Given the description of an element on the screen output the (x, y) to click on. 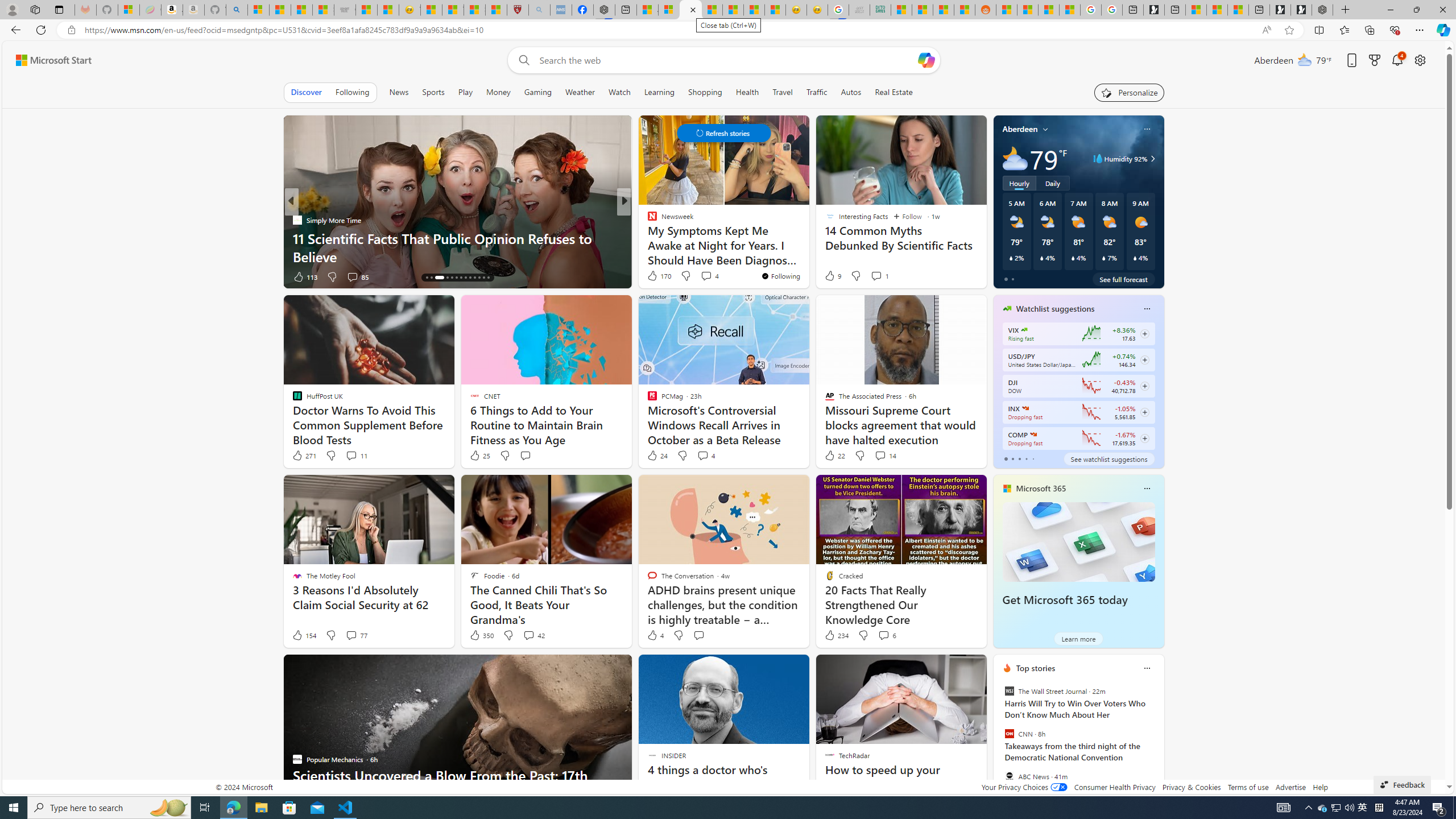
Watch (619, 92)
How to clear your browser cache and cookies (807, 256)
Newsweek (647, 219)
14 Common Myths Debunked By Scientific Facts (712, 9)
Your Privacy Choices (1024, 786)
View comments 42 Comment (528, 635)
tab-0 (1005, 458)
3 Like (651, 276)
28 Like (652, 276)
